Given the description of an element on the screen output the (x, y) to click on. 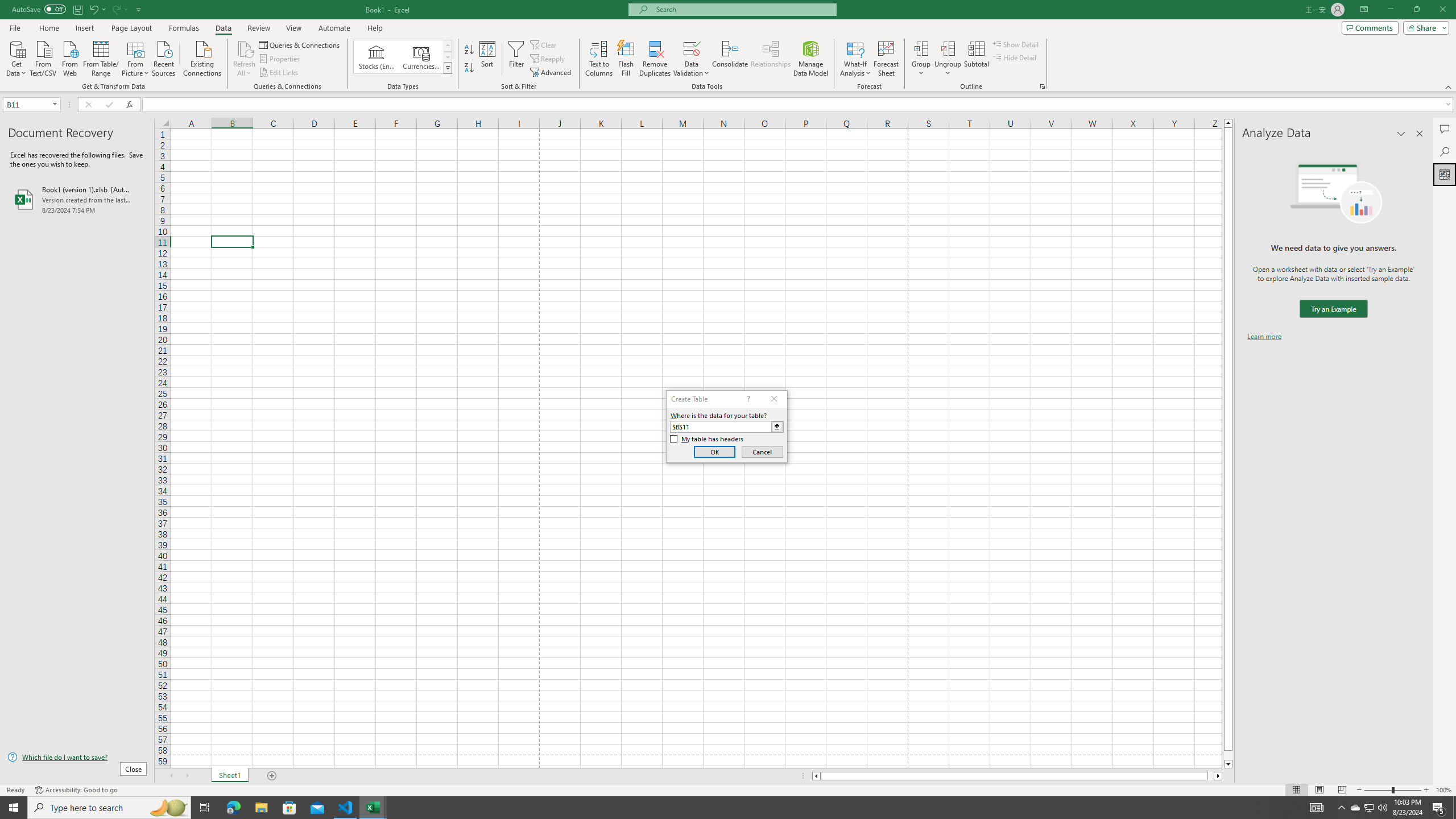
Column right (1218, 775)
From Web (69, 57)
Stocks (English) (375, 56)
